Given the description of an element on the screen output the (x, y) to click on. 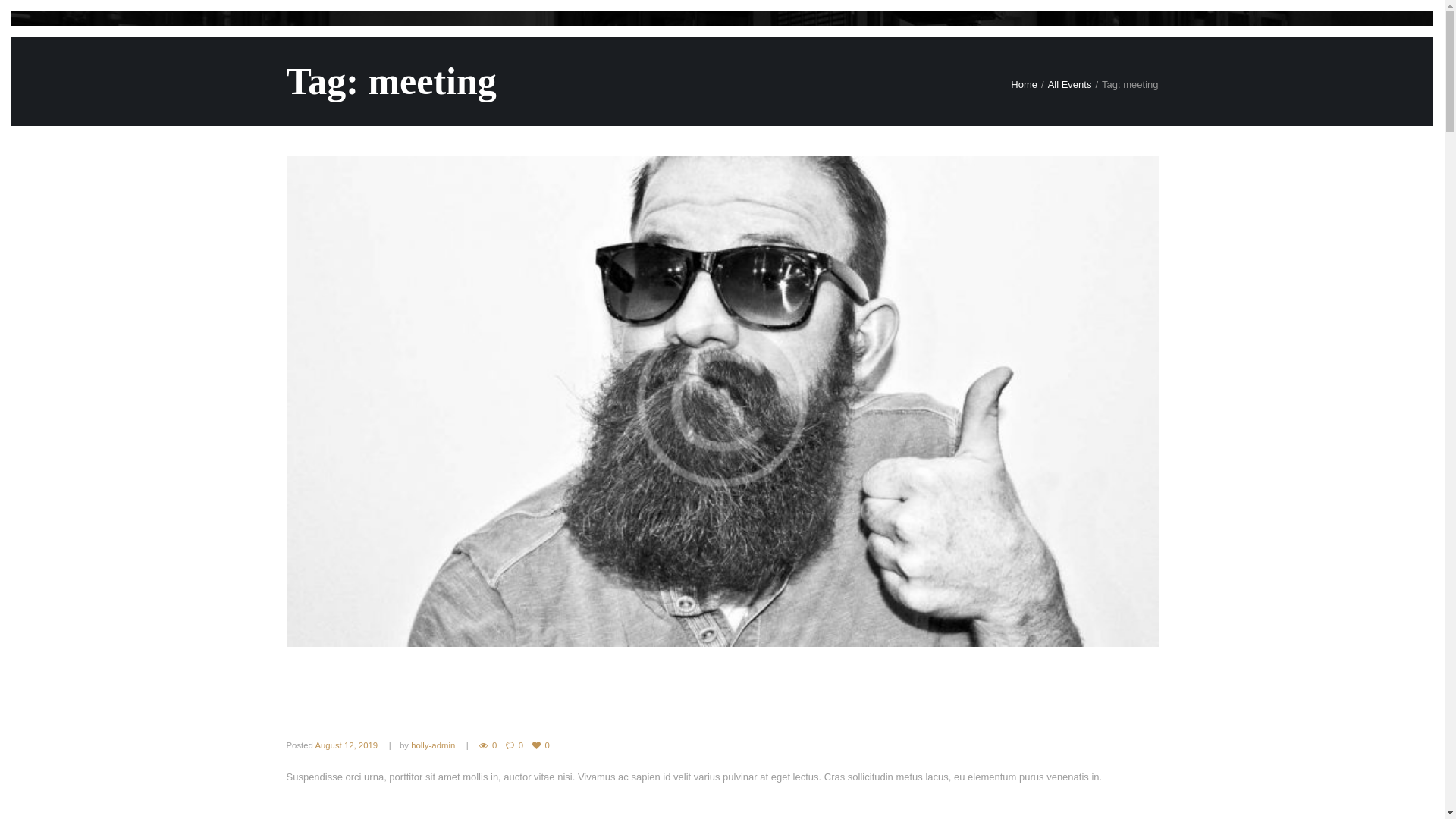
holly-admin Element type: text (433, 744)
August 12, 2019 Element type: text (345, 744)
0 Element type: text (514, 745)
All Events Element type: text (1070, 84)
Home Element type: text (1023, 84)
0 Element type: text (540, 745)
0 Element type: text (487, 745)
Beard Styling by John Doe Element type: text (438, 692)
